Given the description of an element on the screen output the (x, y) to click on. 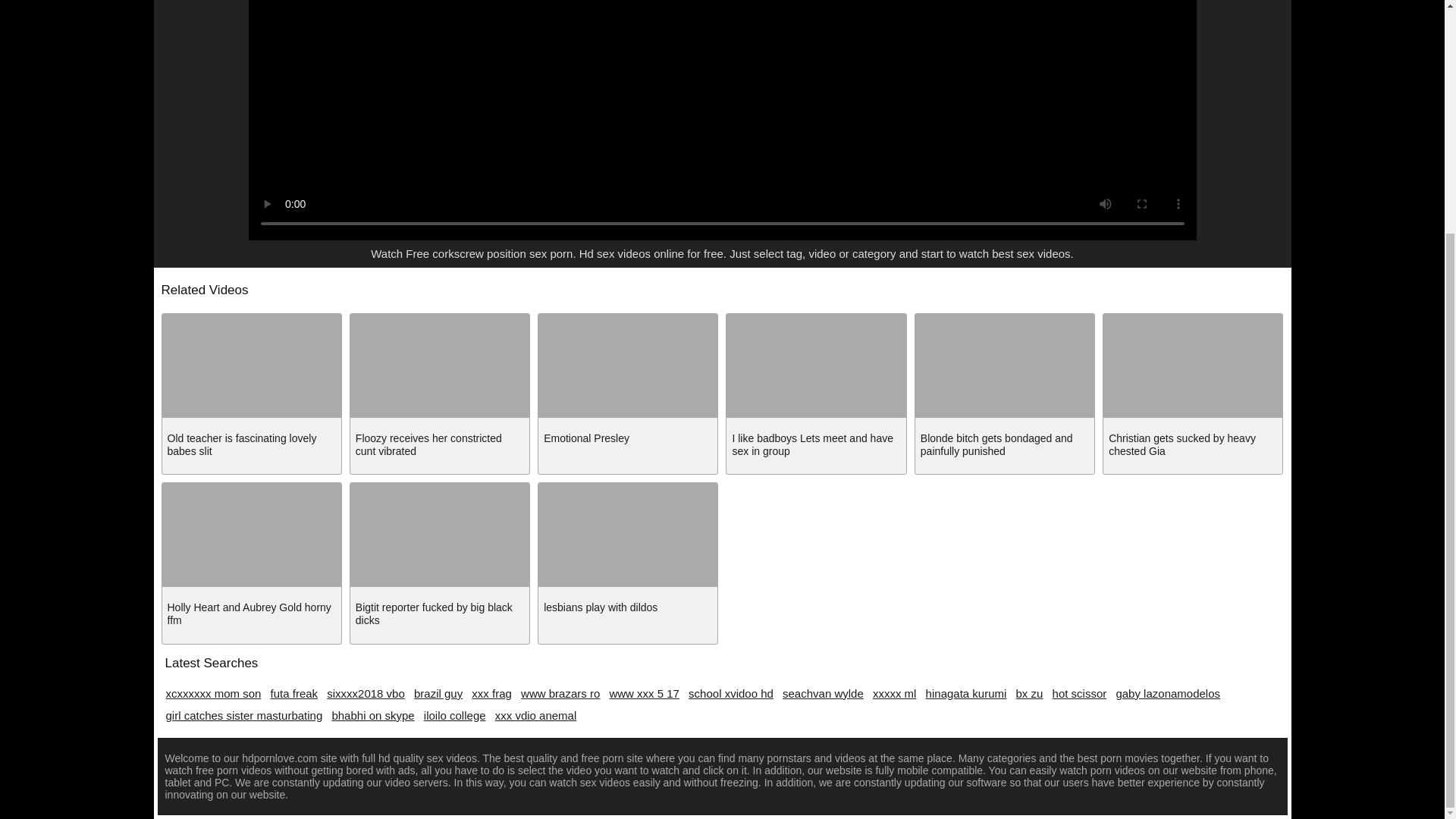
Old teacher is fascinating lovely babes slit (241, 444)
Old teacher is fascinating lovely babes slit (241, 444)
Blonde bitch gets bondaged and painfully punished (996, 444)
Emotional Presley (585, 438)
I like badboys Lets meet and have sex in group (812, 444)
Emotional Presley (585, 438)
Floozy receives her constricted cunt vibrated (428, 444)
Floozy receives her constricted cunt vibrated (428, 444)
